Given the description of an element on the screen output the (x, y) to click on. 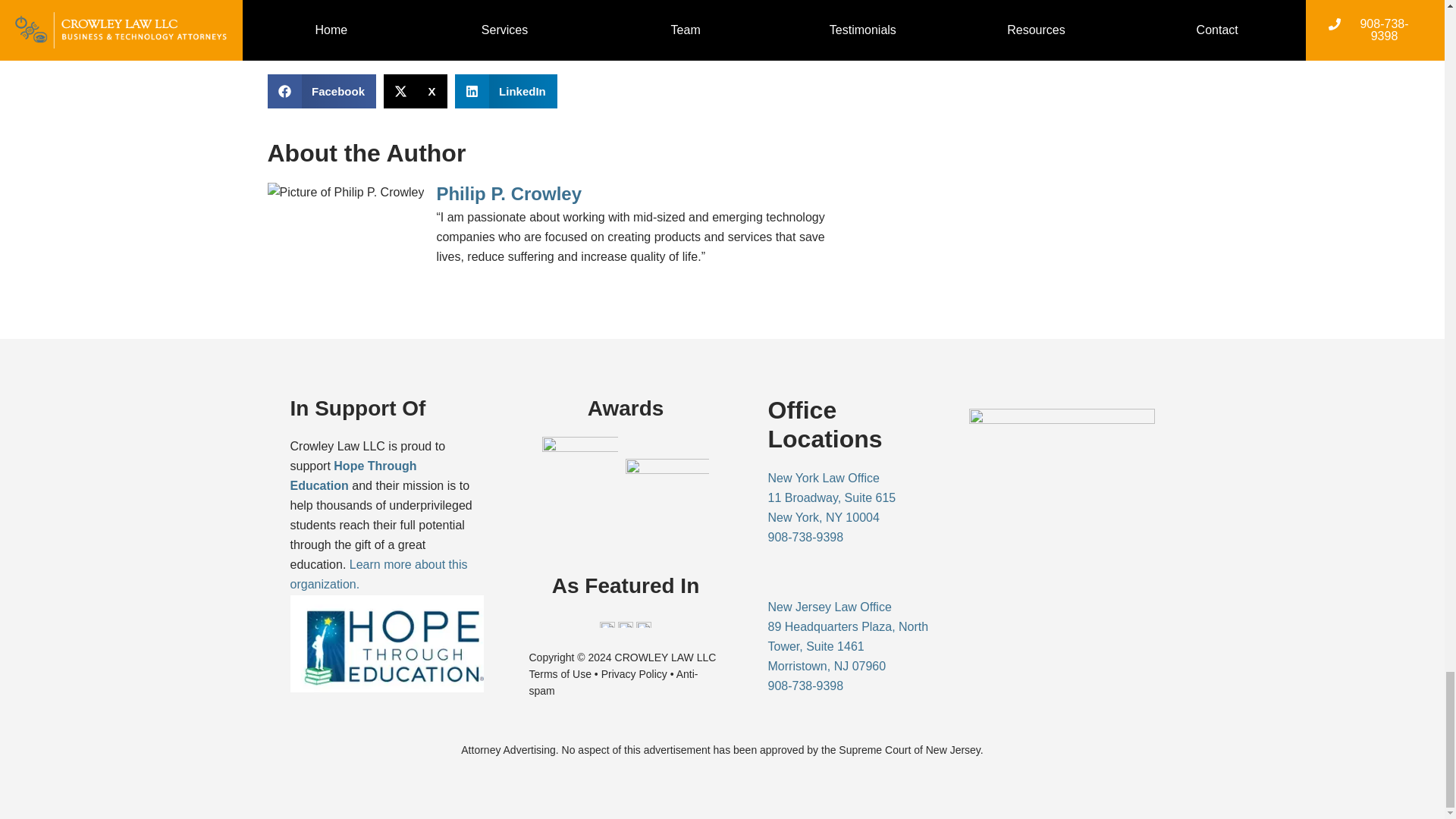
11 Broadway, Suite 615 New York, NY 10004 (1061, 525)
